Given the description of an element on the screen output the (x, y) to click on. 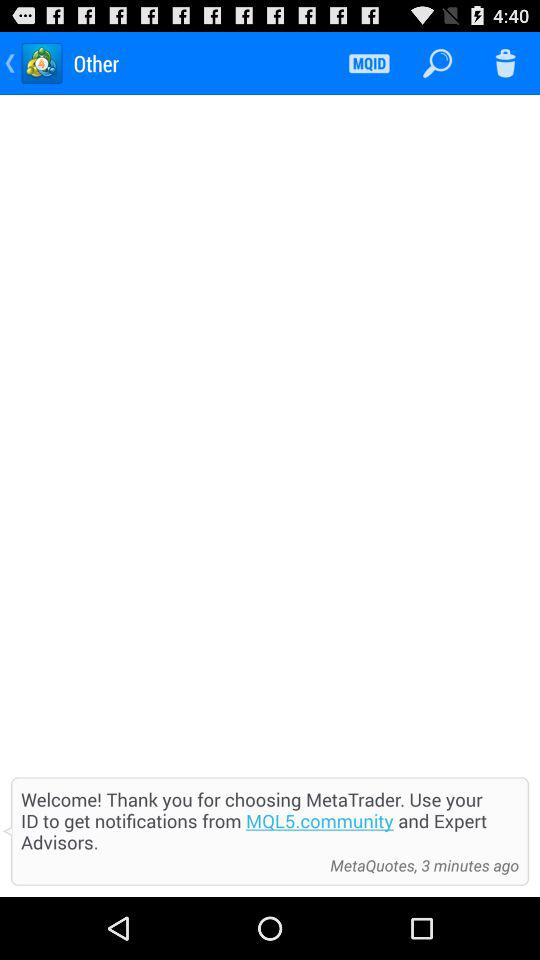
tap icon to the left of the metaquotes 3 minutes app (170, 865)
